Given the description of an element on the screen output the (x, y) to click on. 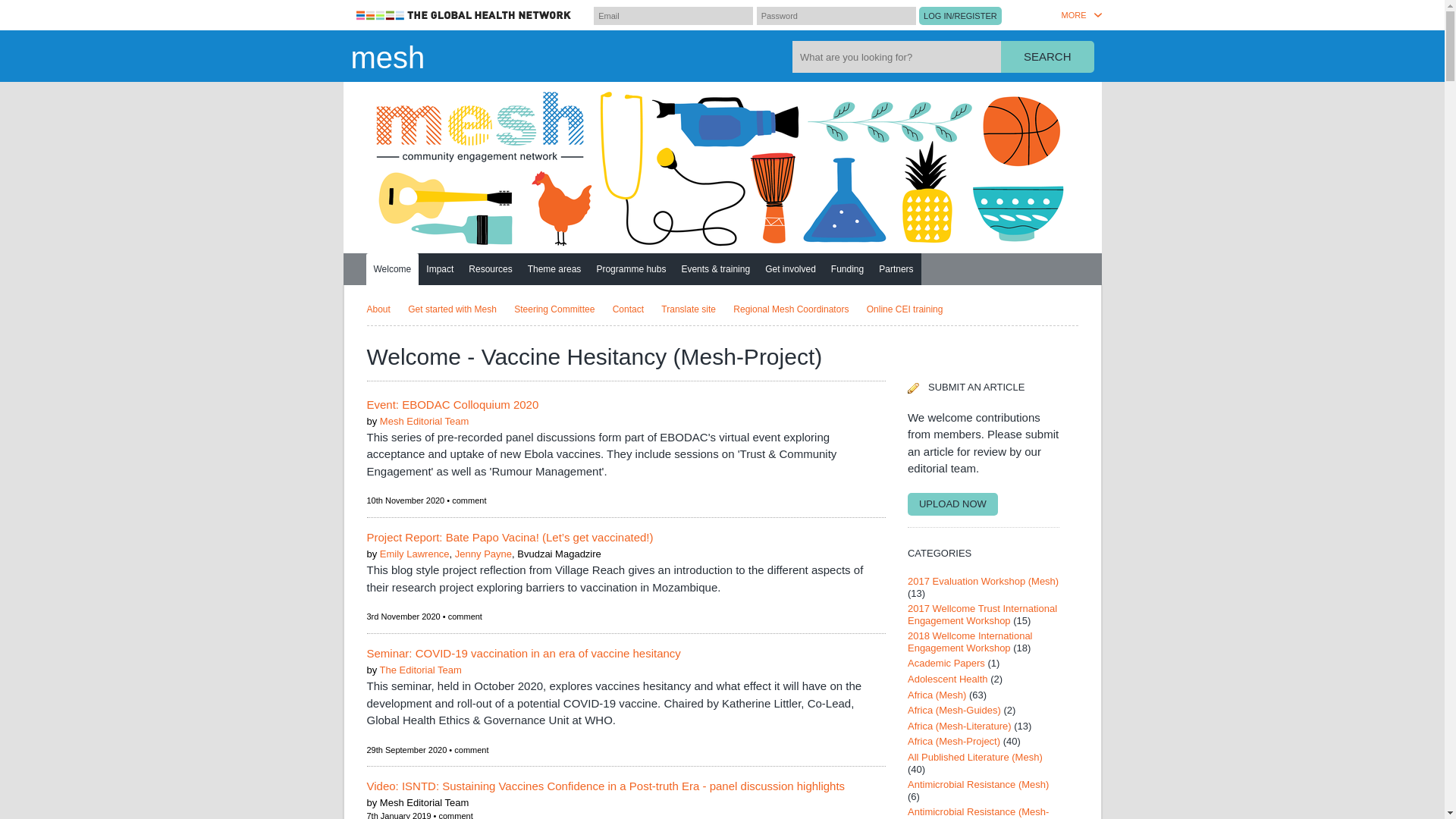
The Global Health Network (464, 15)
